Given the description of an element on the screen output the (x, y) to click on. 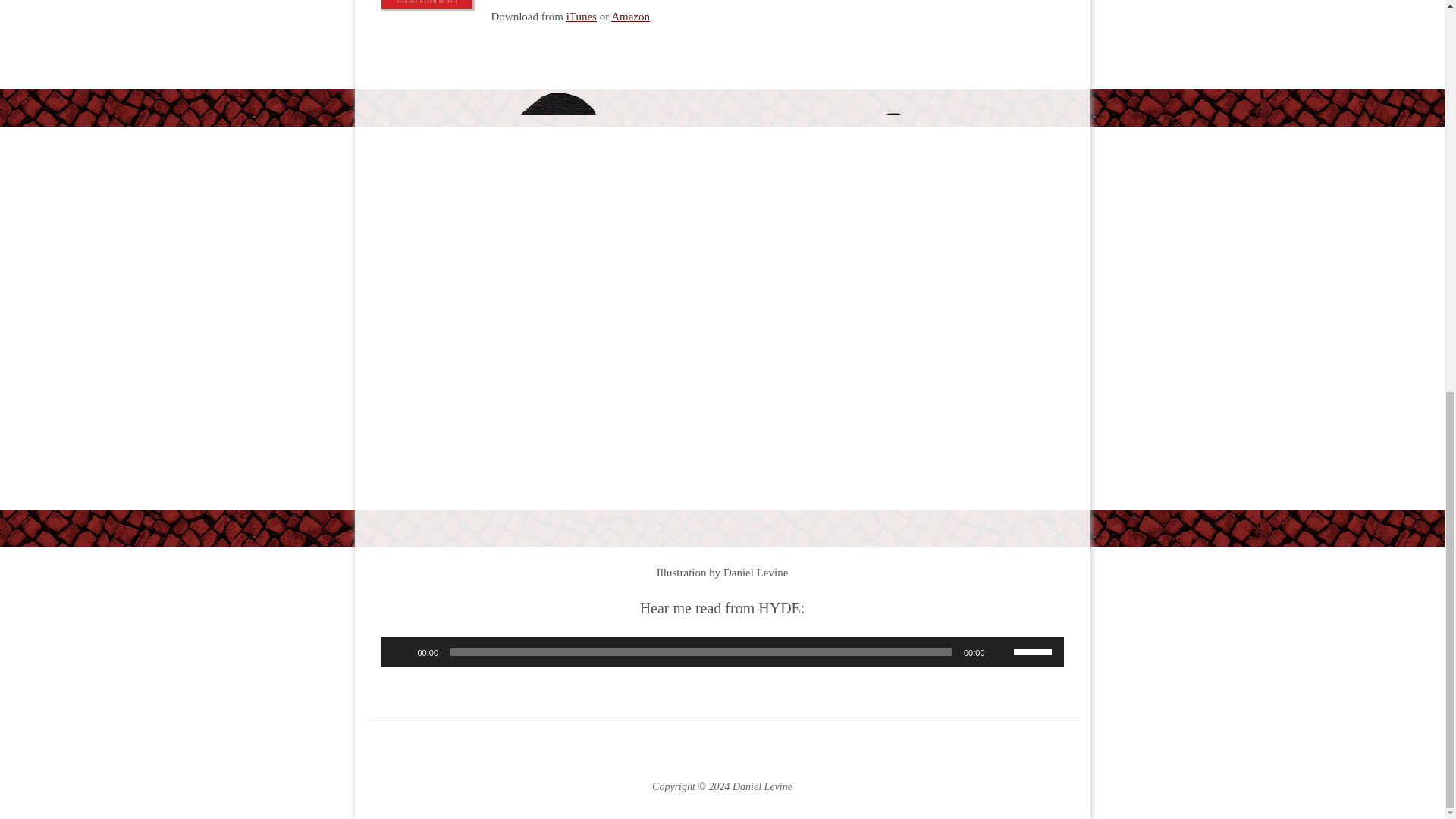
Play (400, 652)
iTunes (581, 16)
Amazon (630, 16)
Mute (1000, 652)
